Given the description of an element on the screen output the (x, y) to click on. 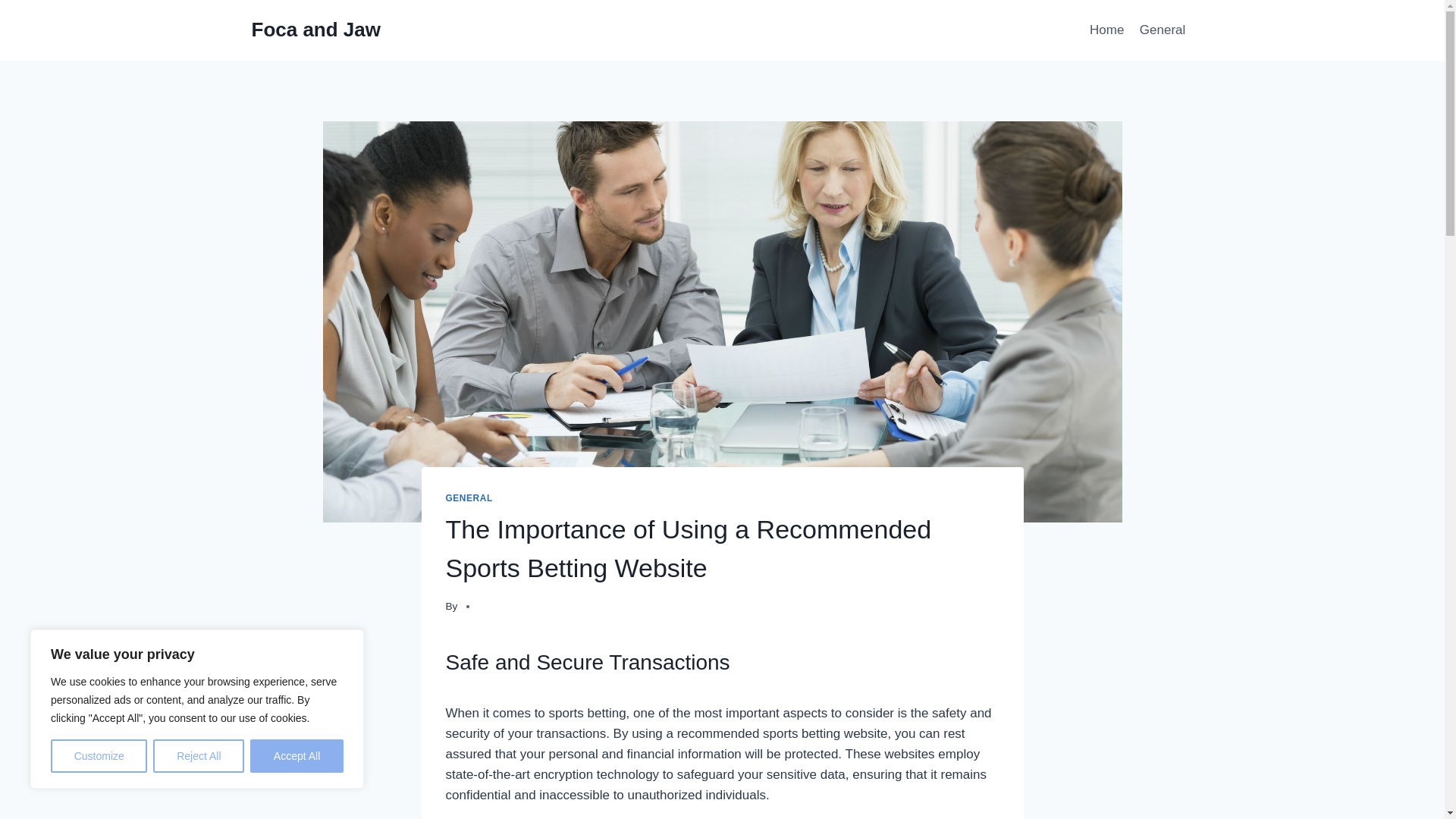
GENERAL (469, 498)
Reject All (198, 756)
Customize (98, 756)
General (1162, 30)
Accept All (296, 756)
Home (1106, 30)
Foca and Jaw (316, 29)
